Given the description of an element on the screen output the (x, y) to click on. 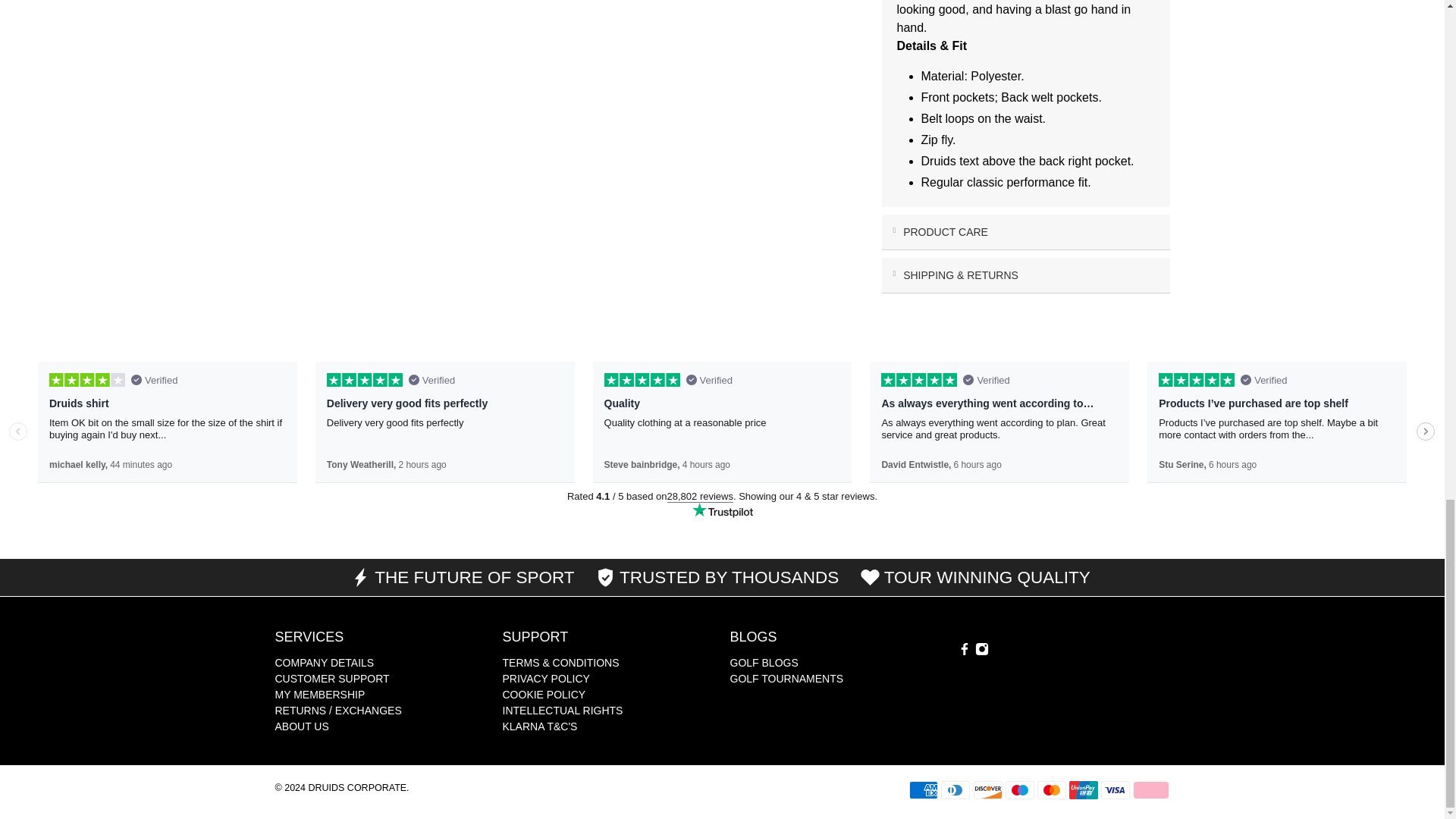
Discover (988, 790)
Diners Club (954, 790)
DRUIDS CORPORATE on Facebook (963, 652)
Maestro (1019, 790)
American Express (922, 790)
DRUIDS CORPORATE on Instagram (981, 652)
